Given the description of an element on the screen output the (x, y) to click on. 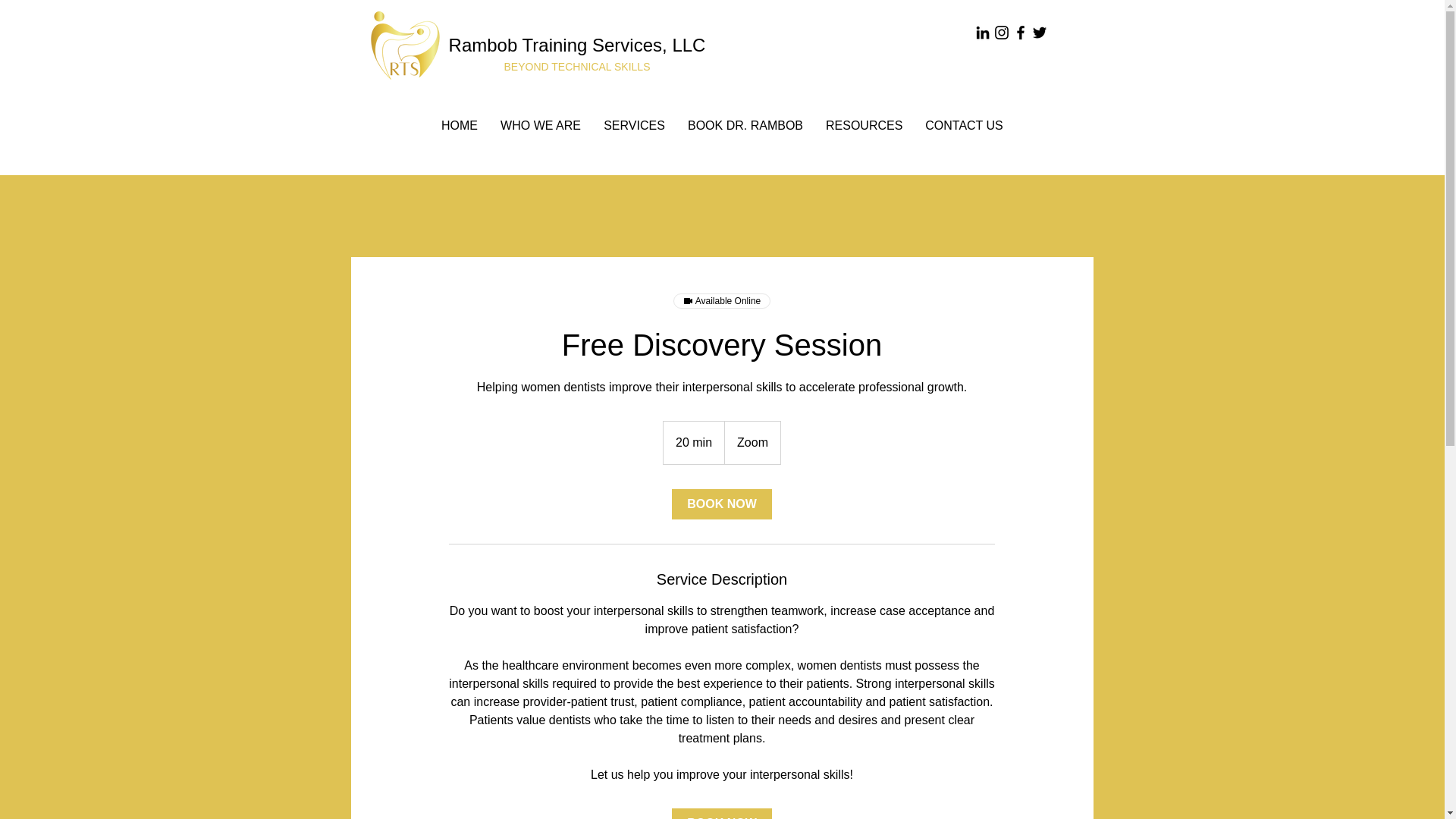
BOOK NOW (721, 813)
BOOK DR. RAMBOB (745, 126)
BOOK NOW (721, 503)
CONTACT US (964, 126)
HOME (459, 126)
